Given the description of an element on the screen output the (x, y) to click on. 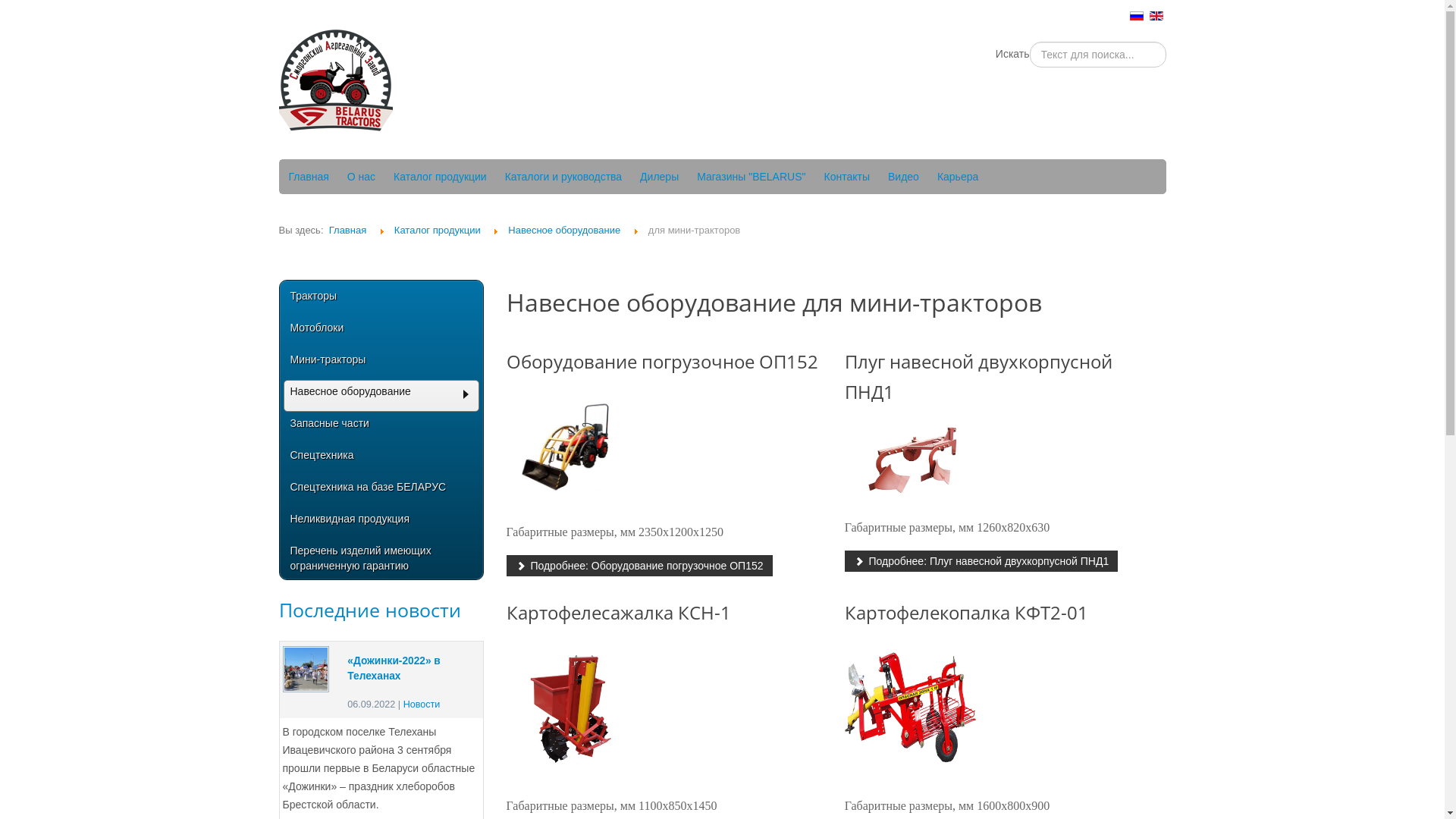
English (UK) Element type: hover (1156, 15)
